Given the description of an element on the screen output the (x, y) to click on. 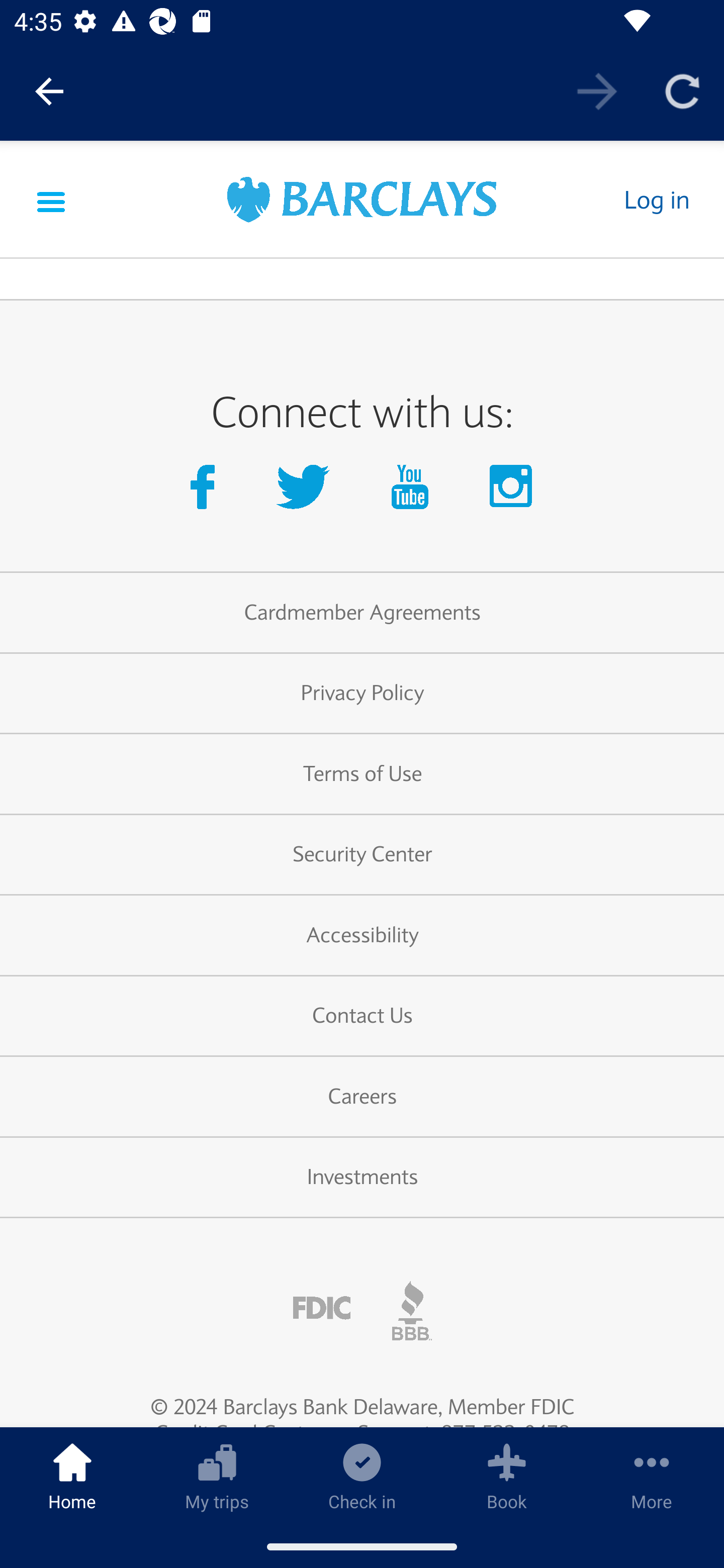
Navigate up (49, 91)
Forward (597, 90)
Reload (681, 90)
Menu (51, 199)
Log in (655, 199)
Barclays (362, 202)
Connect with Barclays US on Facebook (205, 492)
Follow Barclays US on Twitter (306, 492)
Watch Barclays US videos on YouTube (414, 492)
Follow Barclays US on Instagram (512, 492)
Cardmember Agreements (362, 612)
Privacy Policy (362, 693)
Terms of Use (362, 773)
Security Center (362, 854)
Accessibility (362, 935)
Contact Us (362, 1015)
Careers (362, 1097)
Investments (362, 1178)
Insured by the FDIC (321, 1308)
View the Better Business Bureau accreditation (411, 1309)
My trips (216, 1475)
Check in (361, 1475)
Book (506, 1475)
More (651, 1475)
